Given the description of an element on the screen output the (x, y) to click on. 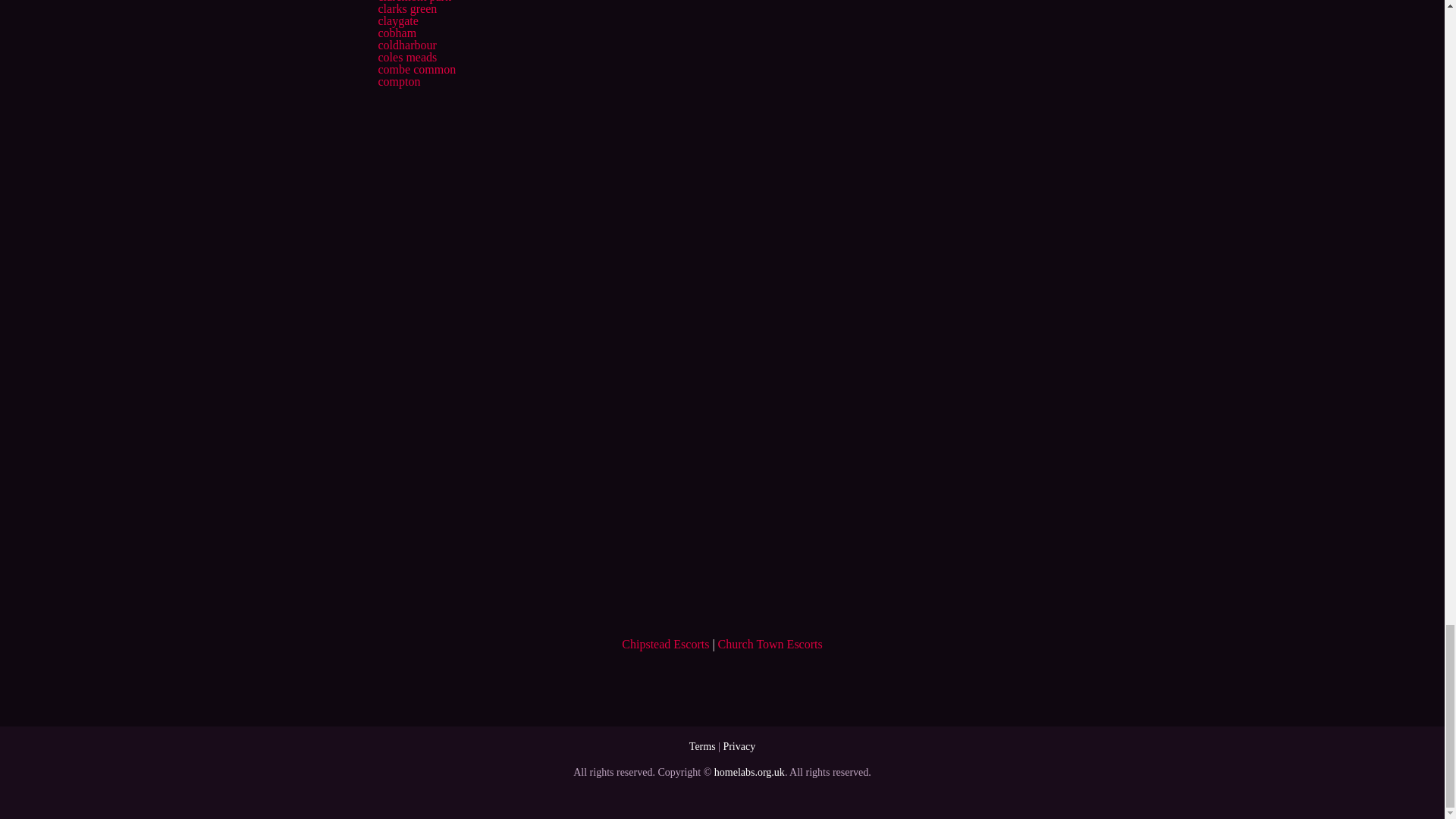
claygate (397, 20)
Church Town Escorts (769, 644)
cobham (396, 32)
Terms (702, 746)
Privacy (738, 746)
claremont park (413, 1)
combe common (416, 69)
Privacy (738, 746)
Chipstead Escorts (665, 644)
homelabs.org.uk (749, 772)
compton (398, 81)
Terms (702, 746)
clarks green (406, 8)
coldharbour (406, 44)
coles meads (406, 56)
